Given the description of an element on the screen output the (x, y) to click on. 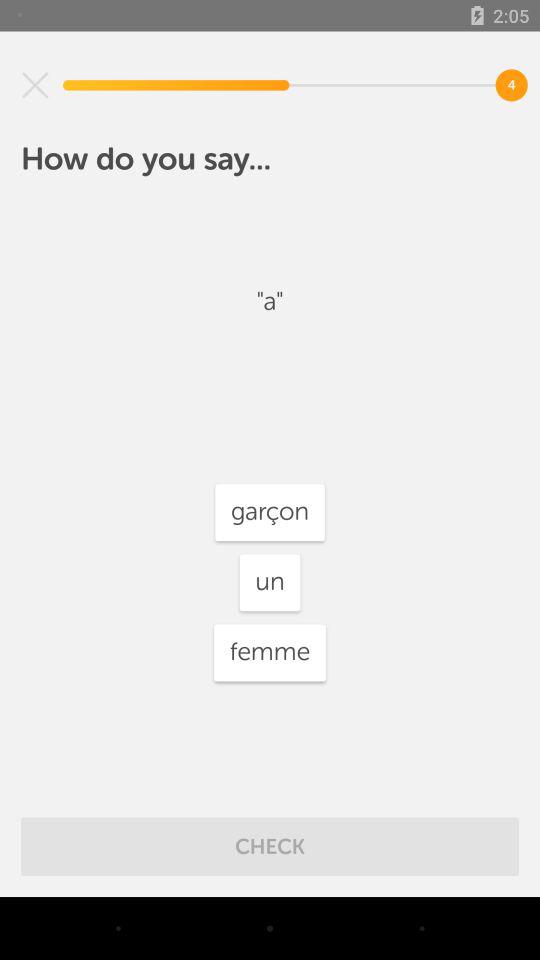
swipe to femme icon (269, 652)
